Given the description of an element on the screen output the (x, y) to click on. 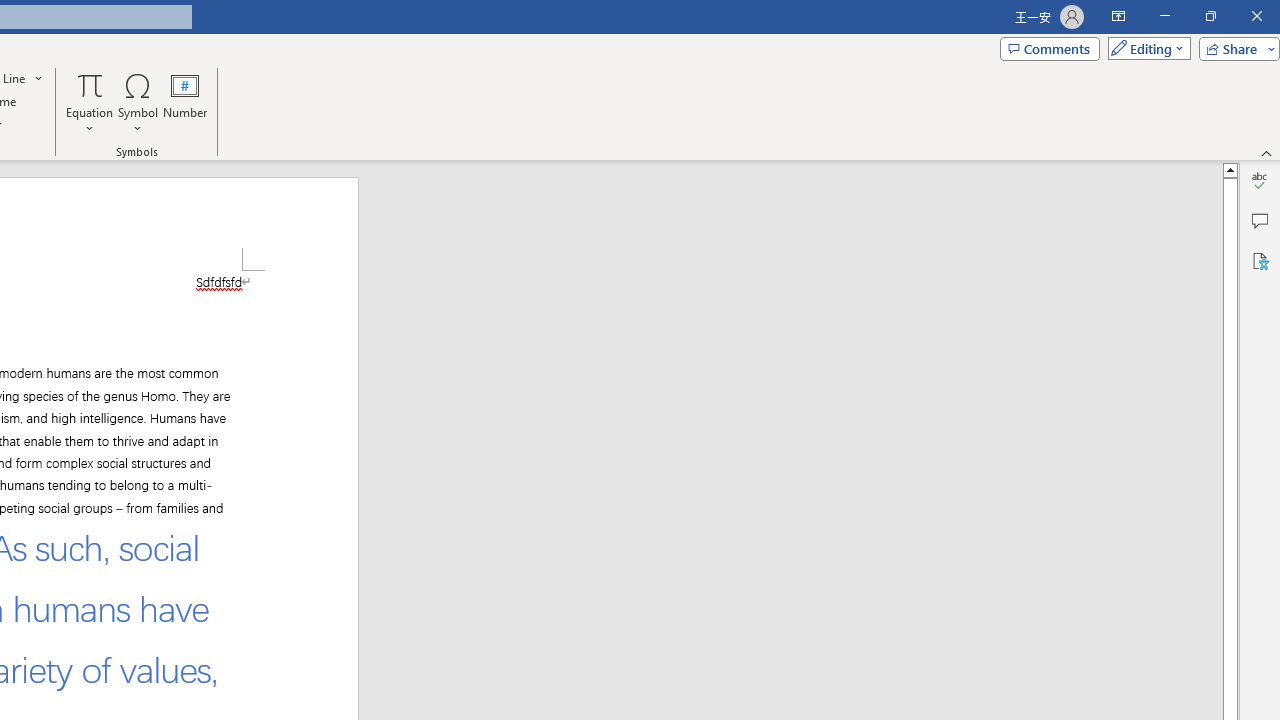
Symbol (138, 102)
